Given the description of an element on the screen output the (x, y) to click on. 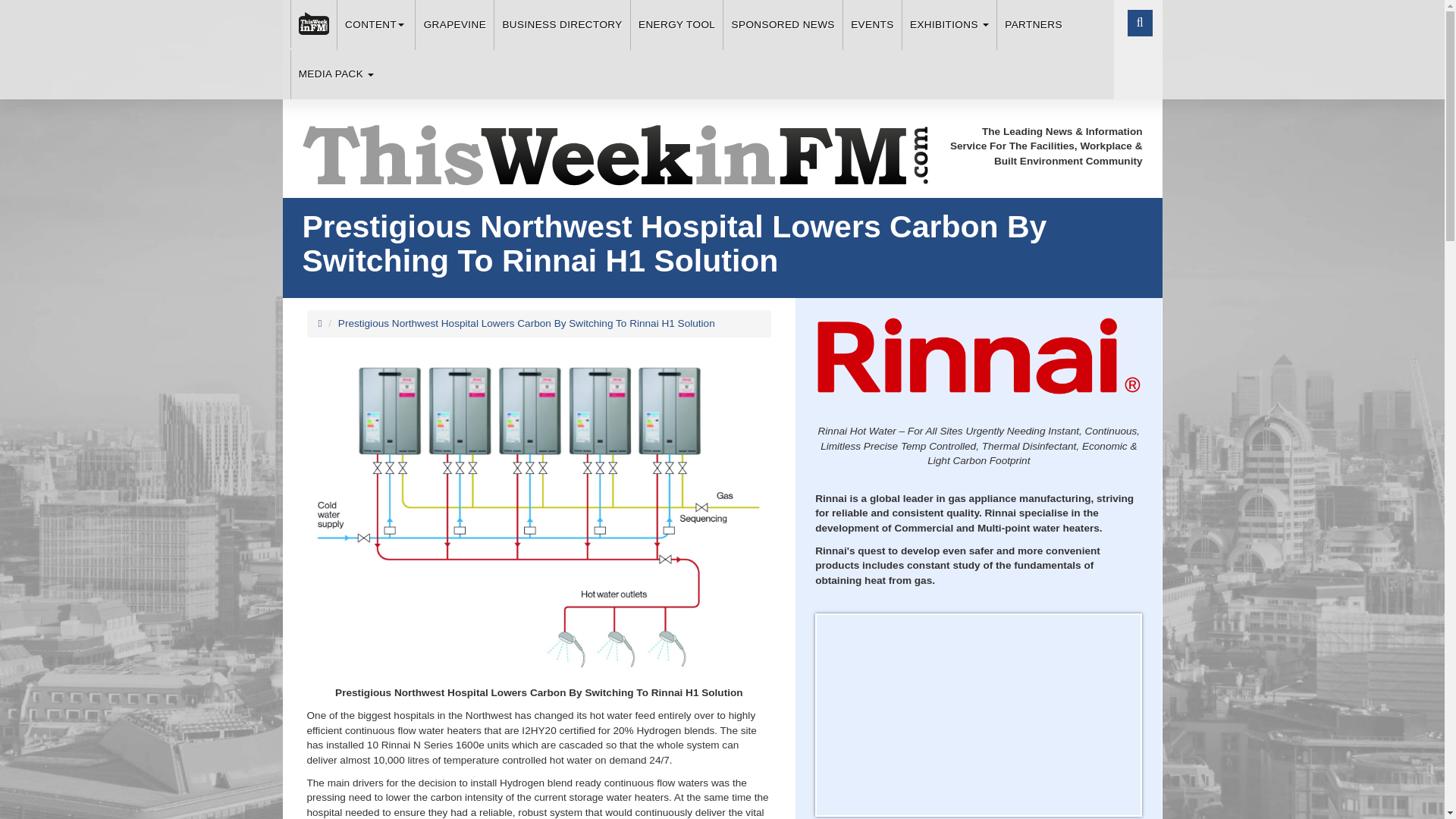
ENERGY TOOL (676, 24)
CONTENT  (375, 24)
MEDIA PACK (335, 74)
PARTNERS (1032, 24)
EXHIBITIONS (948, 24)
GRAPEVINE (453, 24)
EVENTS (872, 24)
BUSINESS DIRECTORY (561, 24)
SPONSORED NEWS (782, 24)
